Given the description of an element on the screen output the (x, y) to click on. 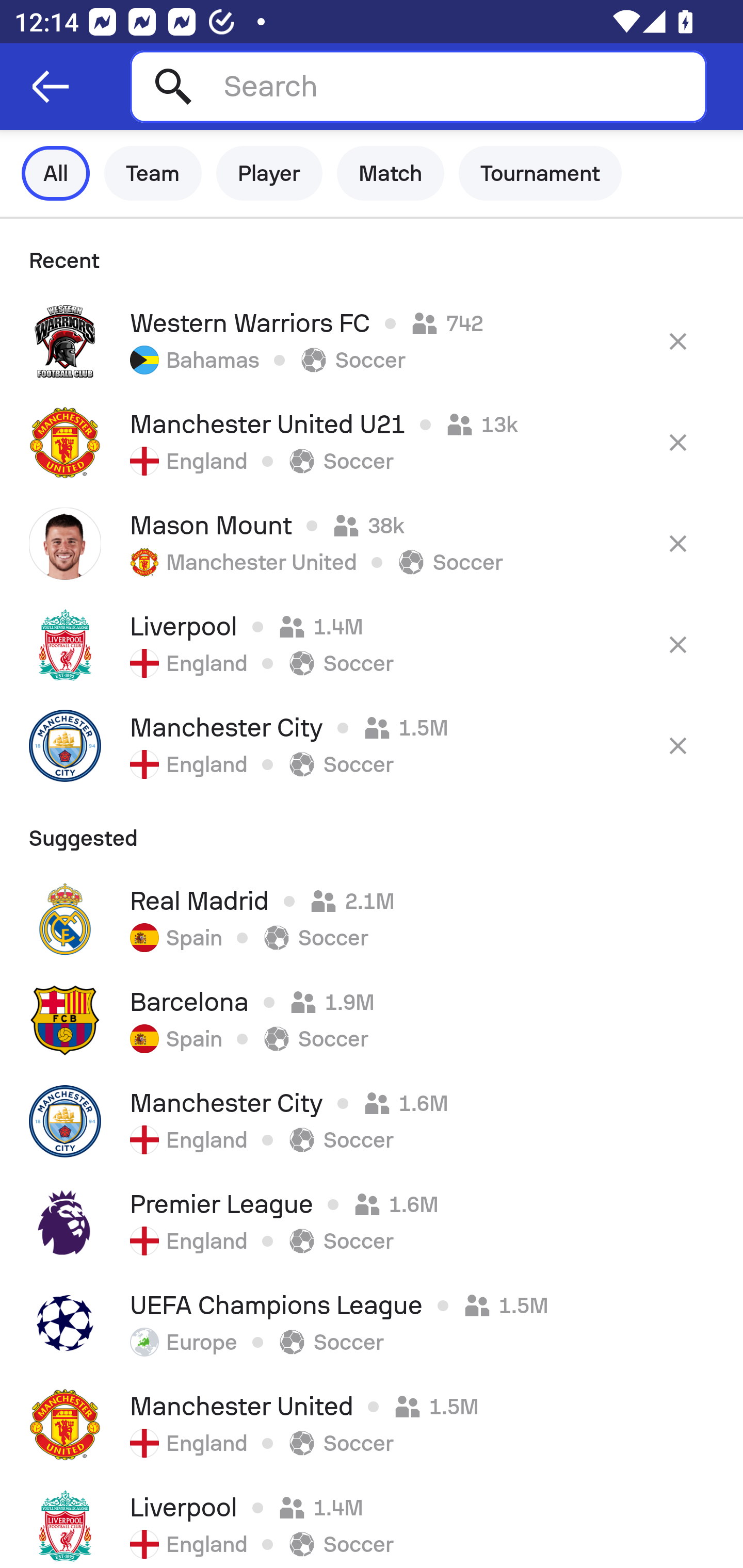
Navigate up (50, 86)
Search (418, 86)
All (55, 172)
Team (152, 172)
Player (268, 172)
Match (390, 172)
Tournament (540, 172)
Recent (371, 254)
Western Warriors FC 742 Bahamas Soccer (371, 341)
Manchester United U21 13k England Soccer (371, 442)
Mason Mount 38k Manchester United Soccer (371, 543)
Liverpool 1.4M England Soccer (371, 644)
Manchester City 1.5M England Soccer (371, 745)
Suggested (371, 832)
Real Madrid 2.1M Spain Soccer (371, 918)
Barcelona 1.9M Spain Soccer (371, 1019)
Manchester City 1.6M England Soccer (371, 1120)
Premier League 1.6M England Soccer (371, 1222)
UEFA Champions League 1.5M Europe Soccer (371, 1323)
Manchester United 1.5M England Soccer (371, 1424)
Liverpool 1.4M England Soccer (371, 1521)
